Given the description of an element on the screen output the (x, y) to click on. 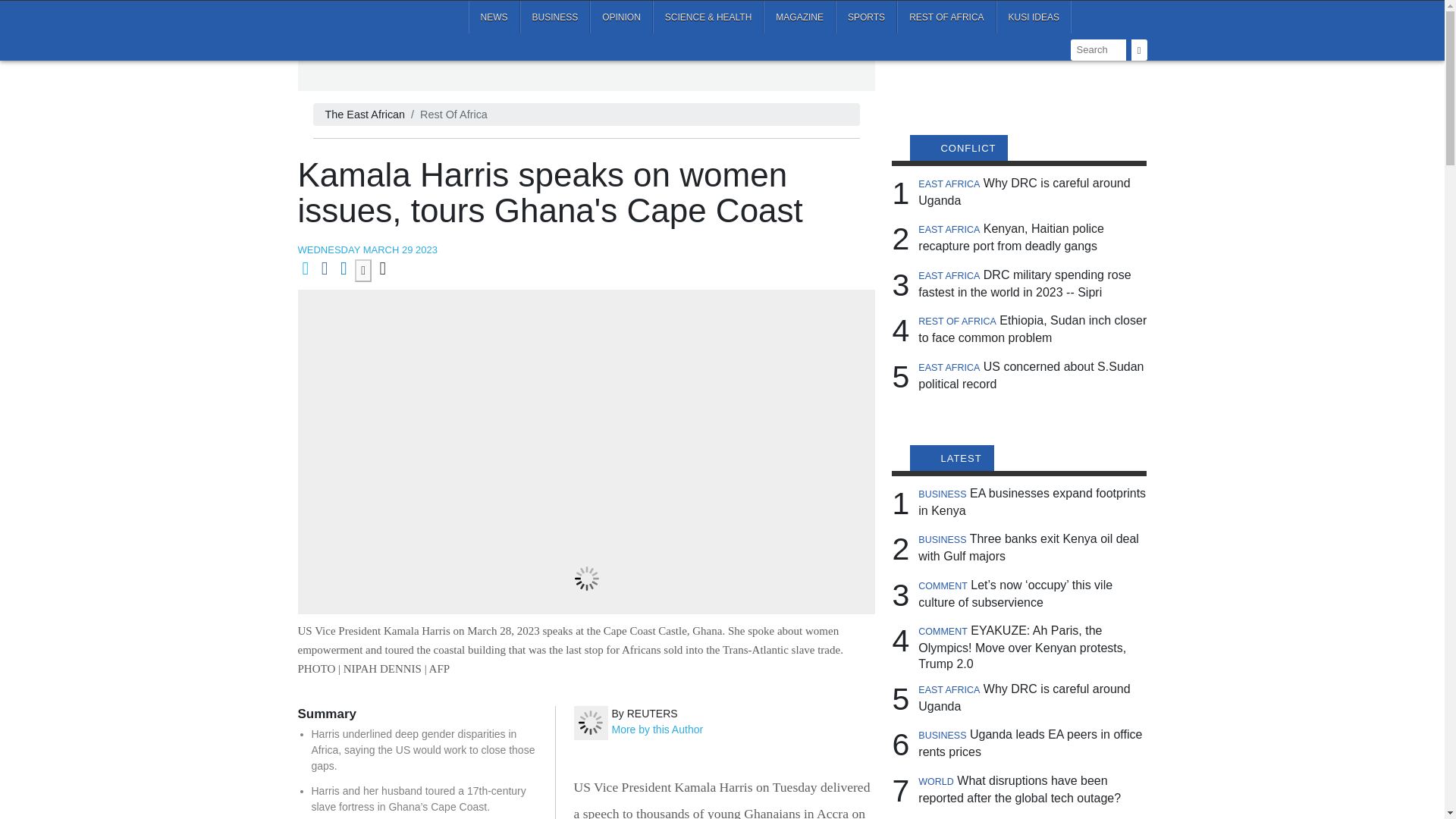
BUSINESS (555, 16)
MAGAZINE (798, 16)
NEWS (493, 16)
SPORTS (865, 16)
OPINION (620, 16)
